Given the description of an element on the screen output the (x, y) to click on. 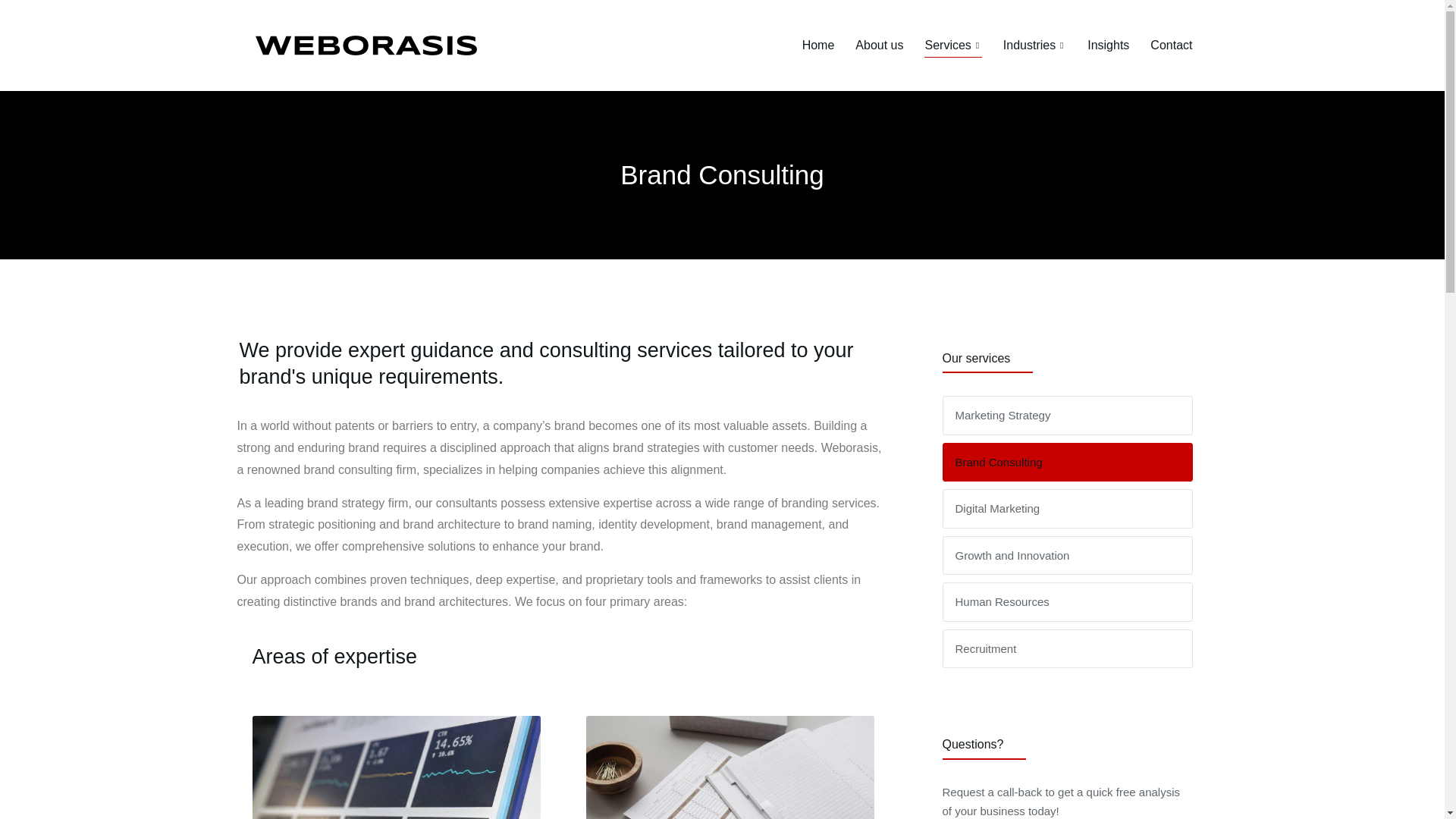
Insights (1108, 44)
Contact (1171, 44)
Home (818, 44)
Industries (1034, 44)
Services (952, 44)
About us (879, 44)
